Given the description of an element on the screen output the (x, y) to click on. 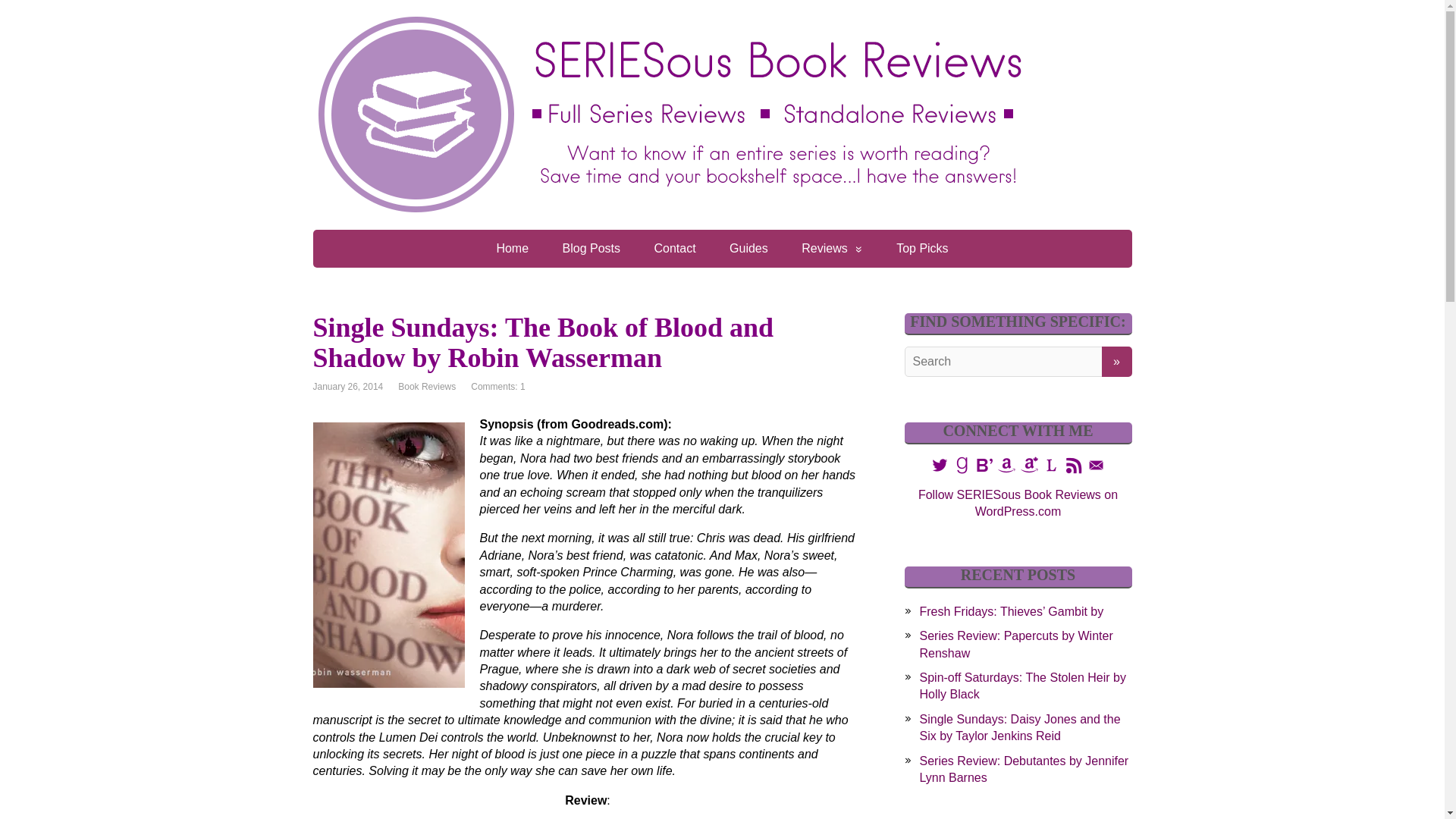
RSS (1073, 463)
Contact (674, 248)
Follow SERIESous Book Reviews on WordPress.com (1018, 502)
Comments: 1 (497, 386)
Series Review: Papercuts by Winter Renshaw (1015, 644)
Amazon.ca Reviews (1029, 463)
LibraryThing (1051, 465)
Goodreads (961, 463)
Reviews (831, 248)
Twitter (939, 463)
Blog Posts (590, 248)
Amazon.com Reviews (1006, 465)
LibraryThing (1051, 463)
Bloglovin (984, 463)
Book Reviews (426, 386)
